Given the description of an element on the screen output the (x, y) to click on. 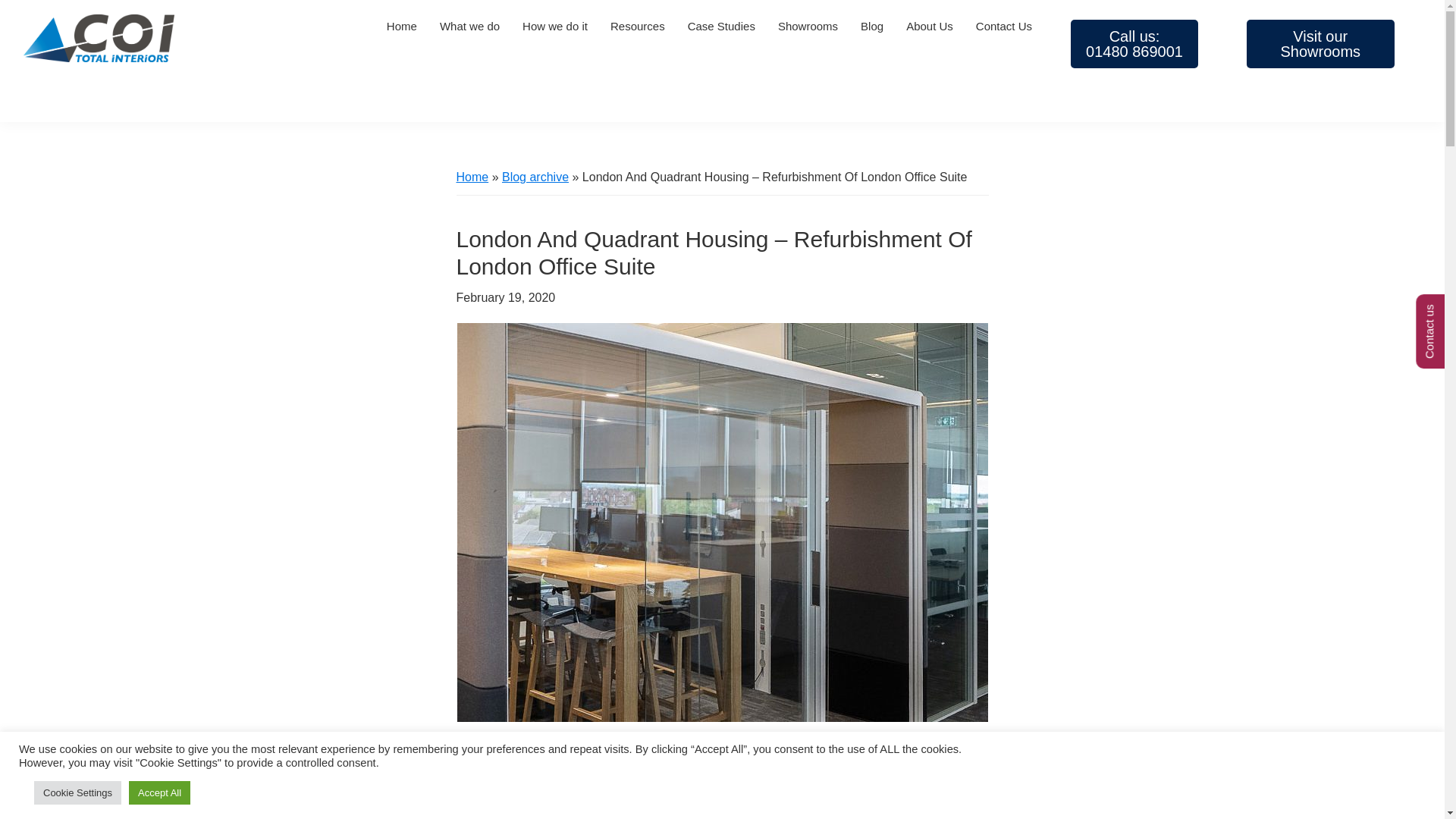
Home (401, 25)
Resources (637, 25)
About Us (929, 25)
How we do it (554, 25)
Case Studies (722, 25)
Showrooms (1134, 43)
Skip to primary navigation (807, 25)
What we do (1320, 43)
Blog (469, 25)
